Given the description of an element on the screen output the (x, y) to click on. 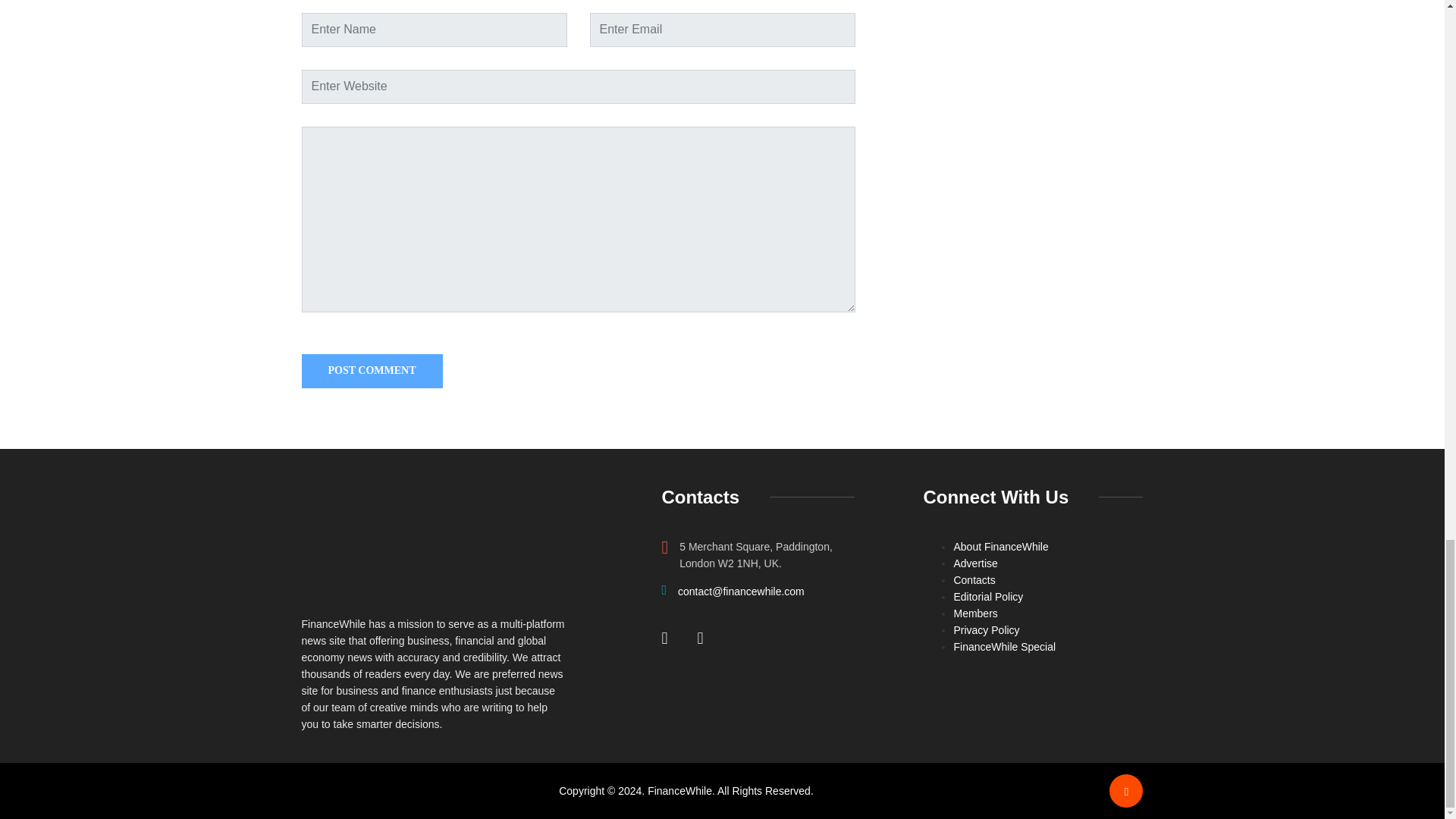
Post Comment (371, 370)
Post Comment (371, 370)
